Given the description of an element on the screen output the (x, y) to click on. 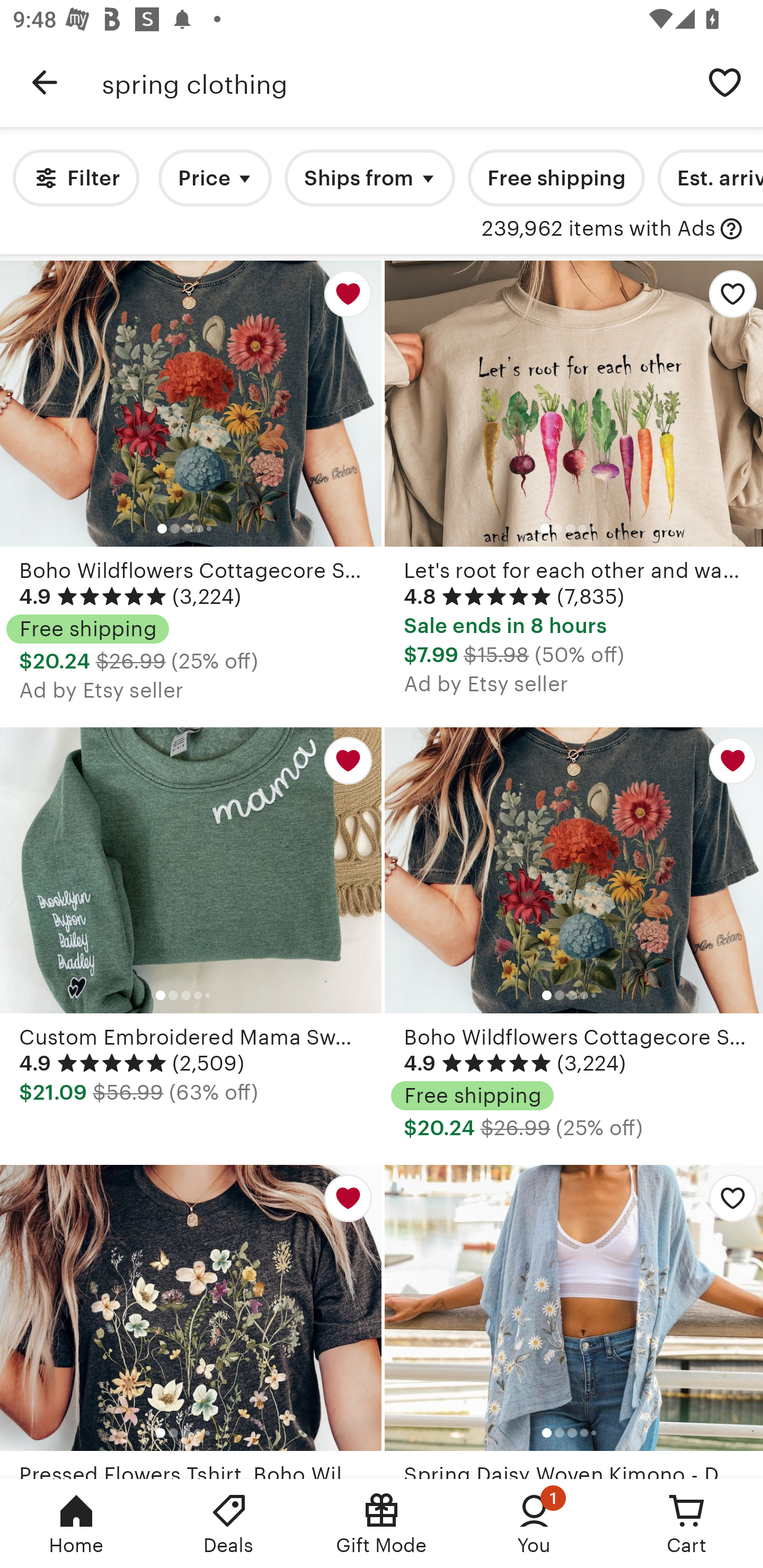
Navigate up (44, 82)
Save search (724, 81)
spring clothing (393, 82)
Filter (75, 177)
Price (214, 177)
Ships from (369, 177)
Free shipping (555, 177)
239,962 items with Ads (598, 228)
with Ads (730, 228)
Deals (228, 1523)
Gift Mode (381, 1523)
You, 1 new notification You (533, 1523)
Cart (686, 1523)
